Given the description of an element on the screen output the (x, y) to click on. 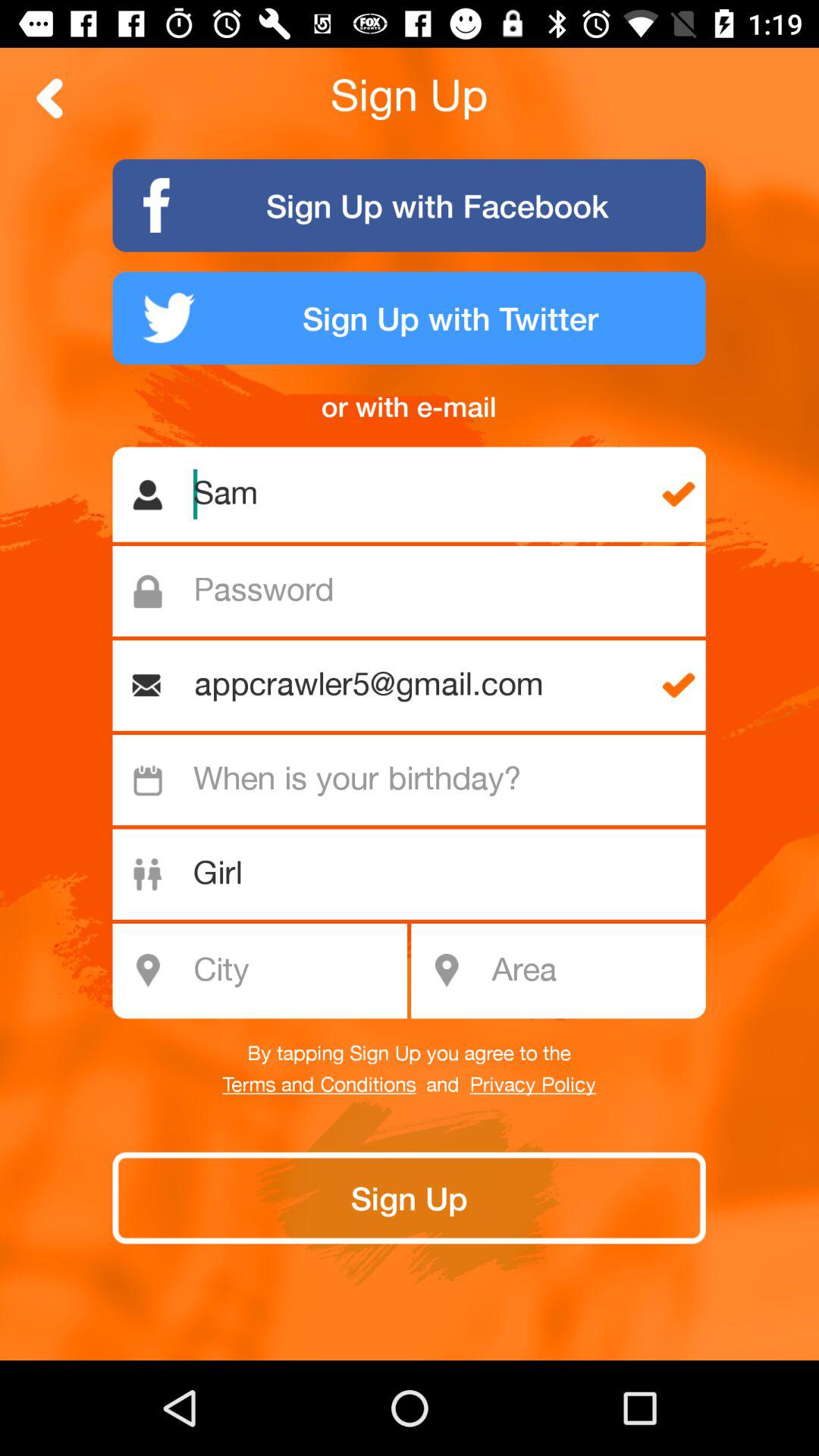
enter text (417, 591)
